Given the description of an element on the screen output the (x, y) to click on. 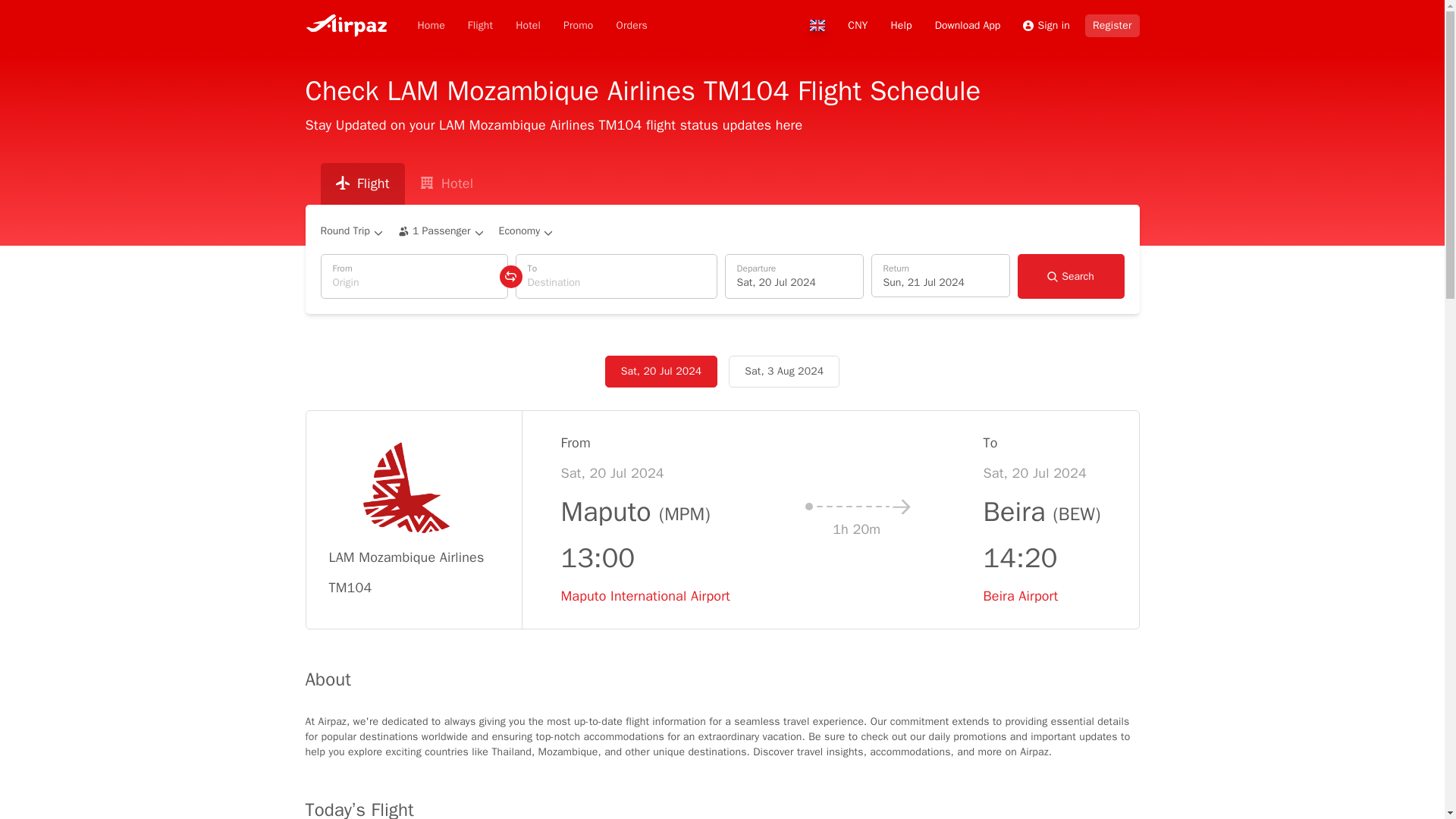
Search (1070, 275)
Download App (939, 275)
Hotel (968, 24)
Economy (528, 25)
Home (526, 231)
Register (430, 25)
Orders (1111, 24)
Promo (631, 25)
Round Trip (578, 25)
Flight (352, 231)
Beira Airport (406, 519)
Help (794, 275)
